Given the description of an element on the screen output the (x, y) to click on. 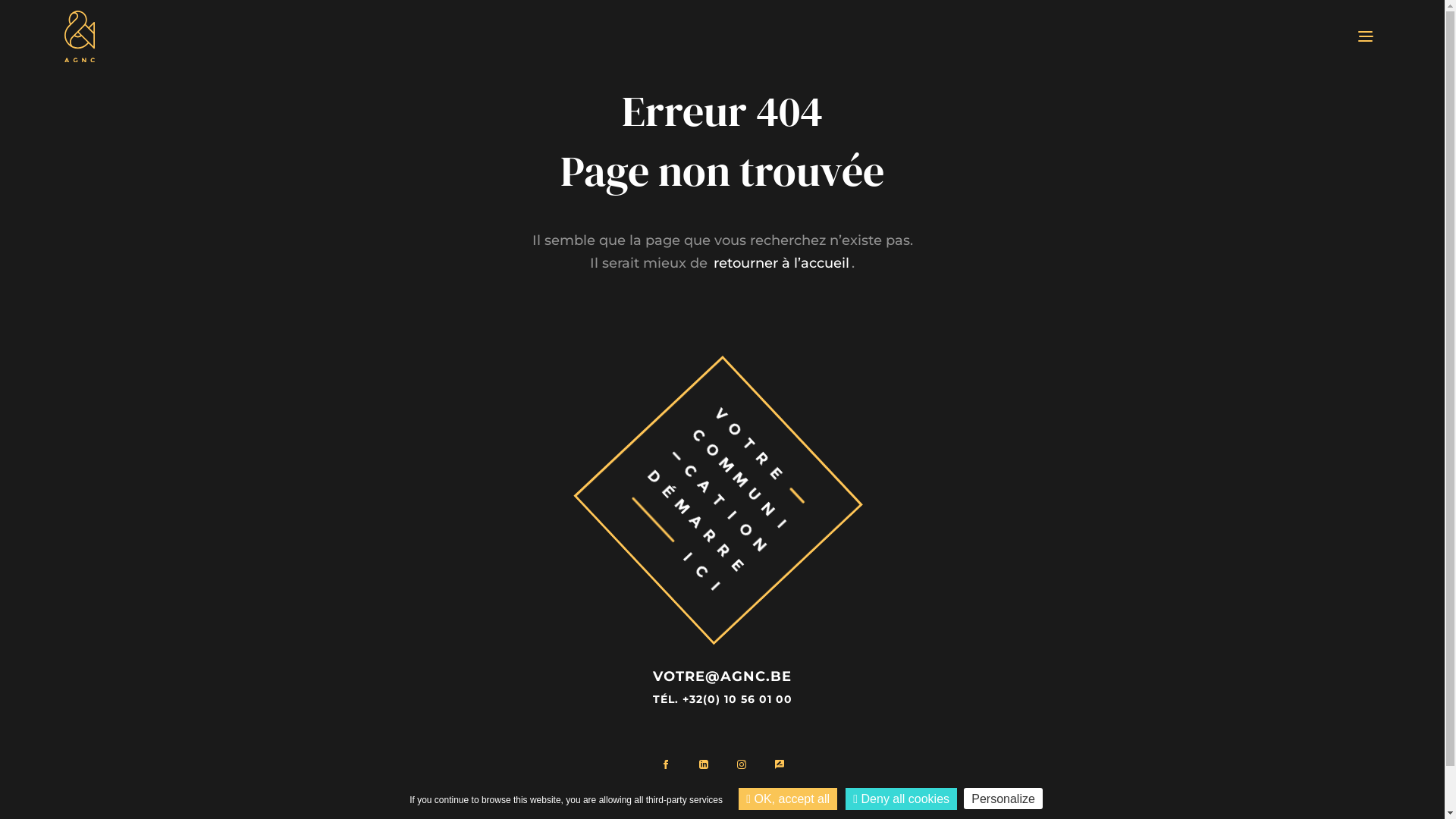
Deny all cookies Element type: text (901, 798)
VOTRE@AGNC.BE Element type: text (721, 676)
Personalize Element type: text (1002, 798)
OK, accept all Element type: text (787, 798)
Menu Element type: text (1364, 36)
